Given the description of an element on the screen output the (x, y) to click on. 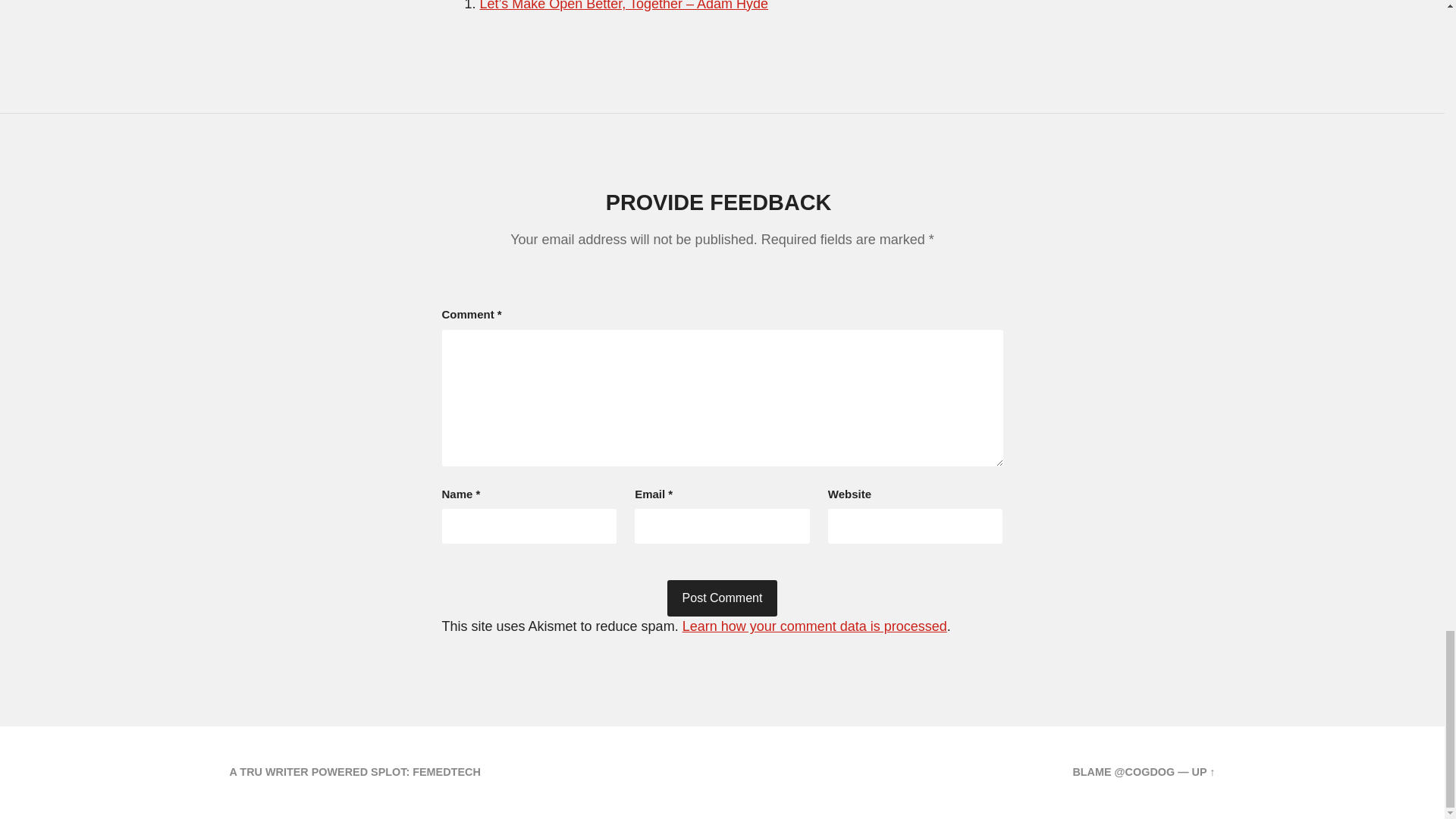
Post Comment (721, 597)
femedtech (446, 771)
To the top (1203, 771)
